Given the description of an element on the screen output the (x, y) to click on. 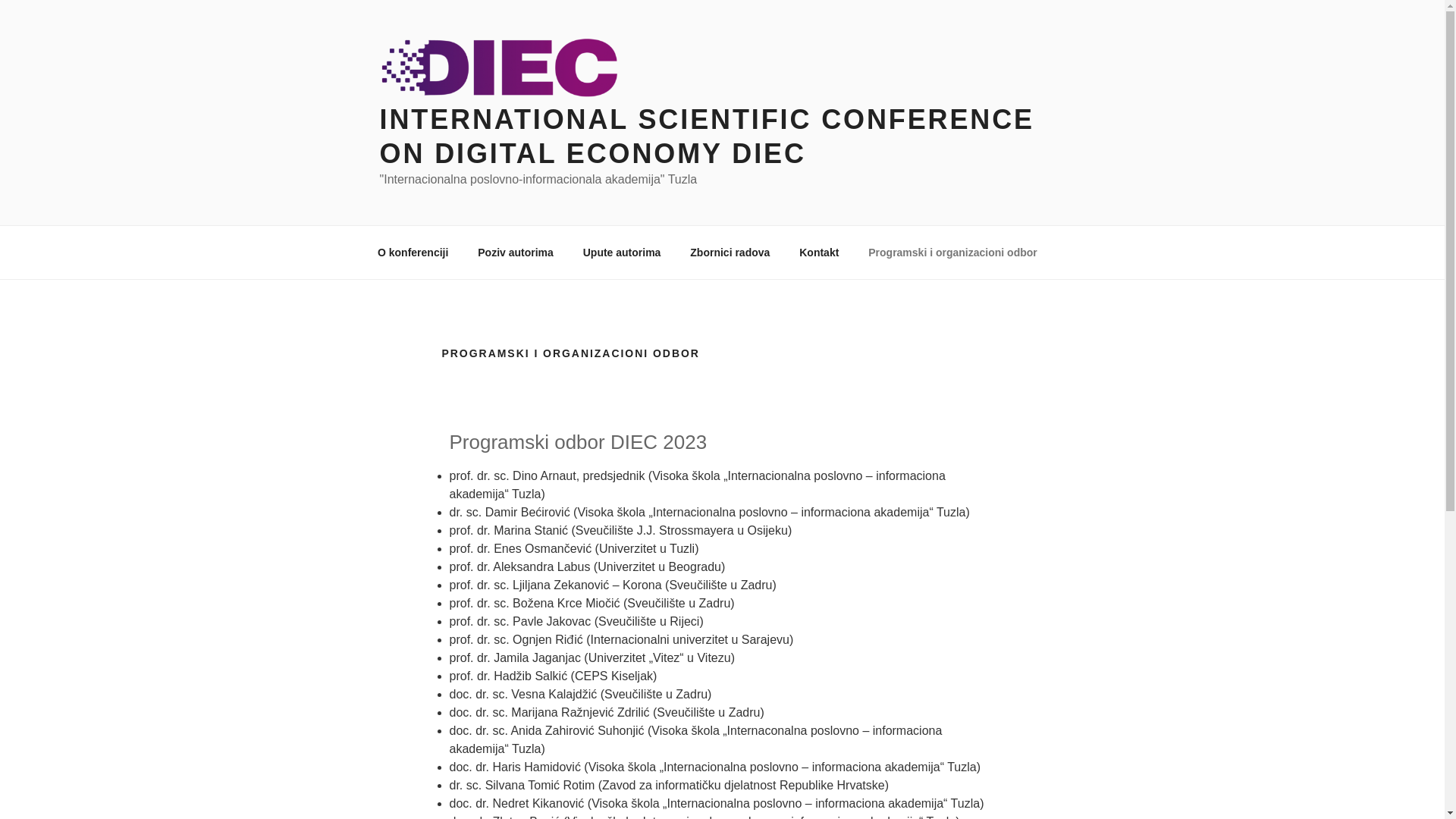
Zbornici radova Element type: text (730, 251)
O konferenciji Element type: text (412, 251)
INTERNATIONAL SCIENTIFIC CONFERENCE ON DIGITAL ECONOMY DIEC Element type: text (706, 136)
Upute autorima Element type: text (621, 251)
Poziv autorima Element type: text (515, 251)
Programski i organizacioni odbor Element type: text (952, 251)
Kontakt Element type: text (819, 251)
